Given the description of an element on the screen output the (x, y) to click on. 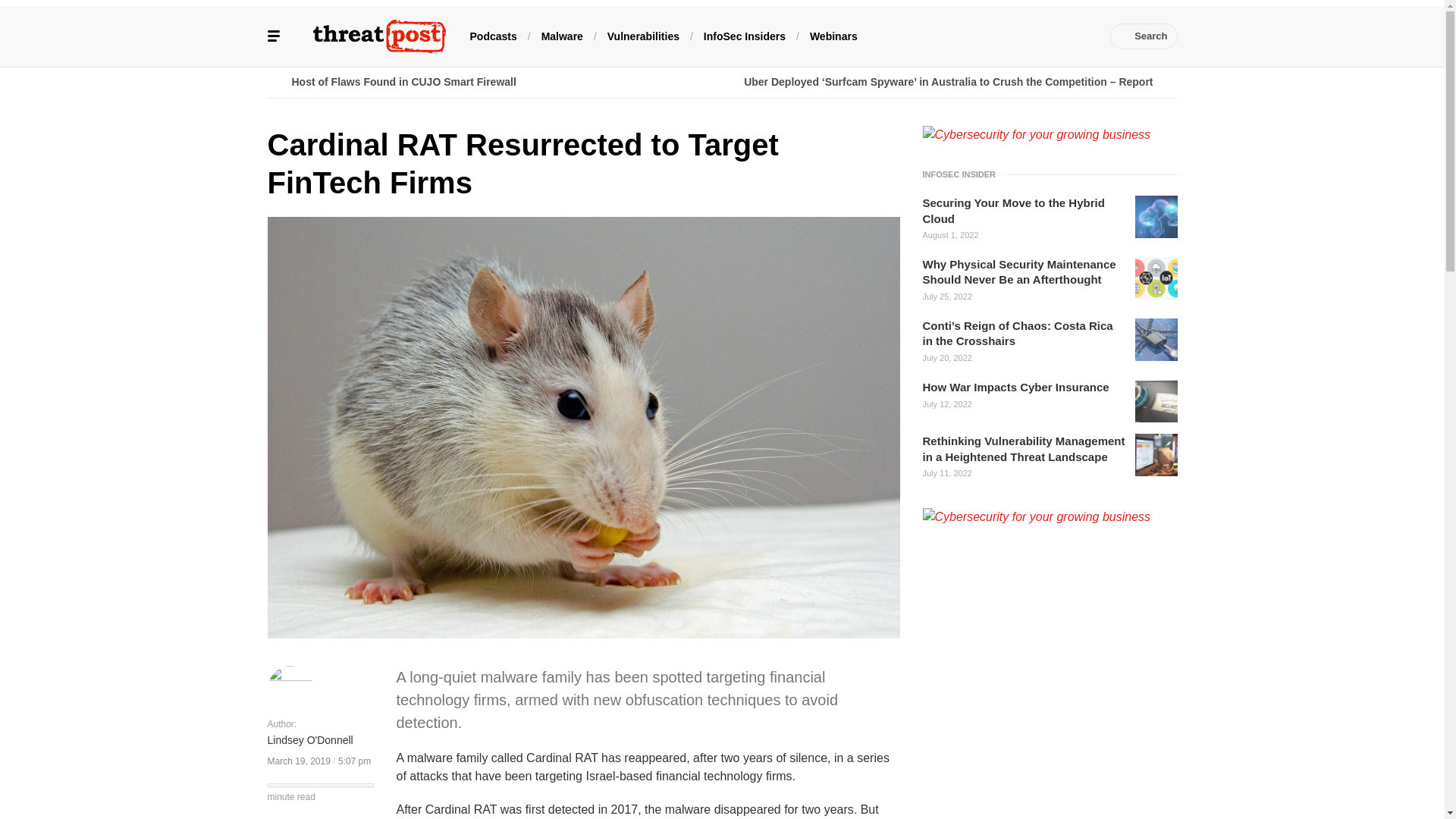
Facebook (944, 36)
Securing Your Move to the Hybrid Cloud (1023, 210)
LinkedIn (989, 36)
Vulnerabilities (643, 35)
Threatpost (379, 36)
Host of Flaws Found in CUJO Smart Firewall (494, 82)
Webinars (833, 35)
InfoSec Insiders (744, 35)
Lindsey O'Donnell (309, 741)
Instagram (1057, 36)
Malware (562, 35)
Twitter (966, 36)
RSS (1080, 36)
Feedly (1034, 36)
